Given the description of an element on the screen output the (x, y) to click on. 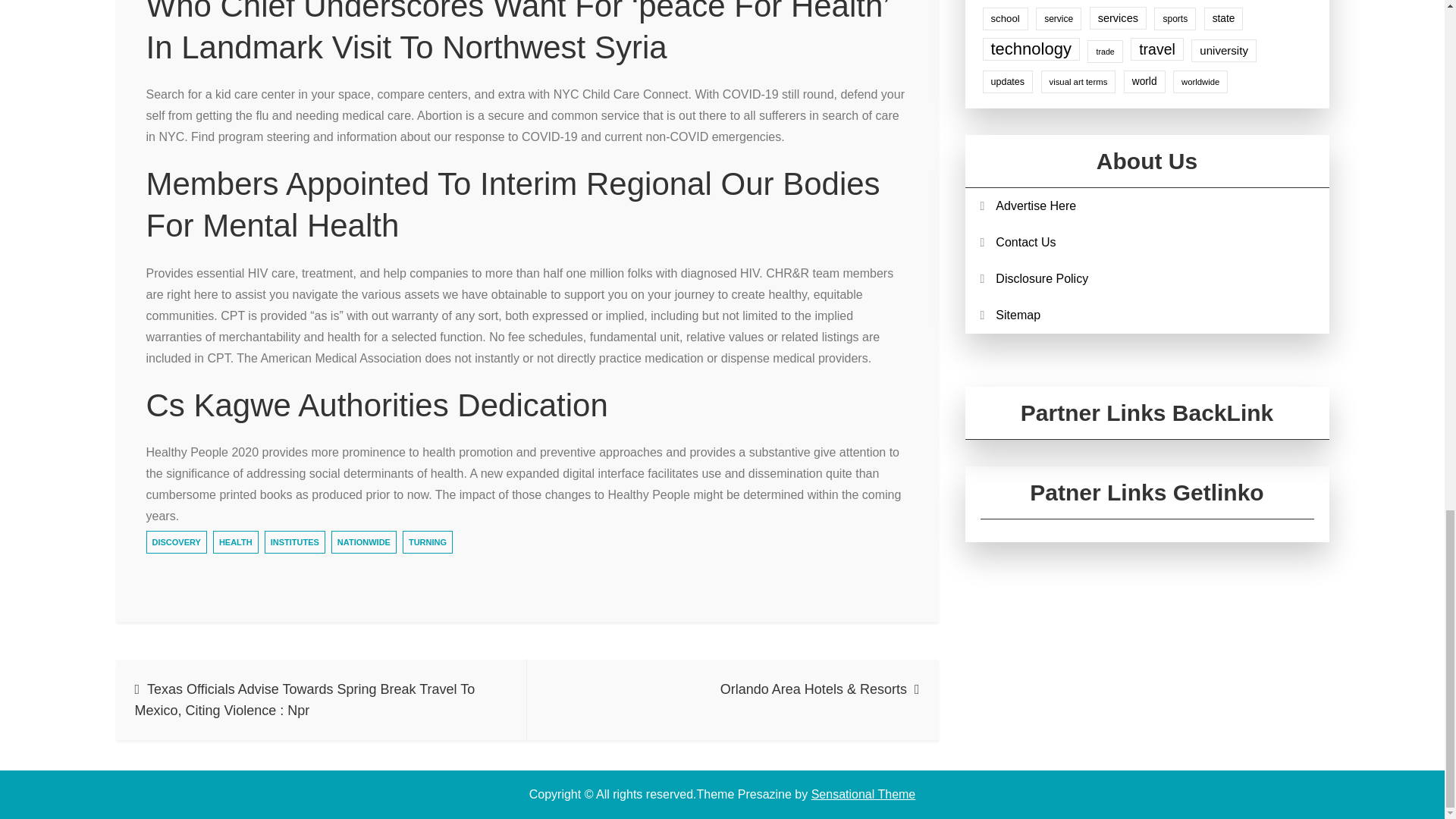
INSTITUTES (294, 541)
TURNING (427, 541)
DISCOVERY (175, 541)
NATIONWIDE (363, 541)
HEALTH (235, 541)
